Given the description of an element on the screen output the (x, y) to click on. 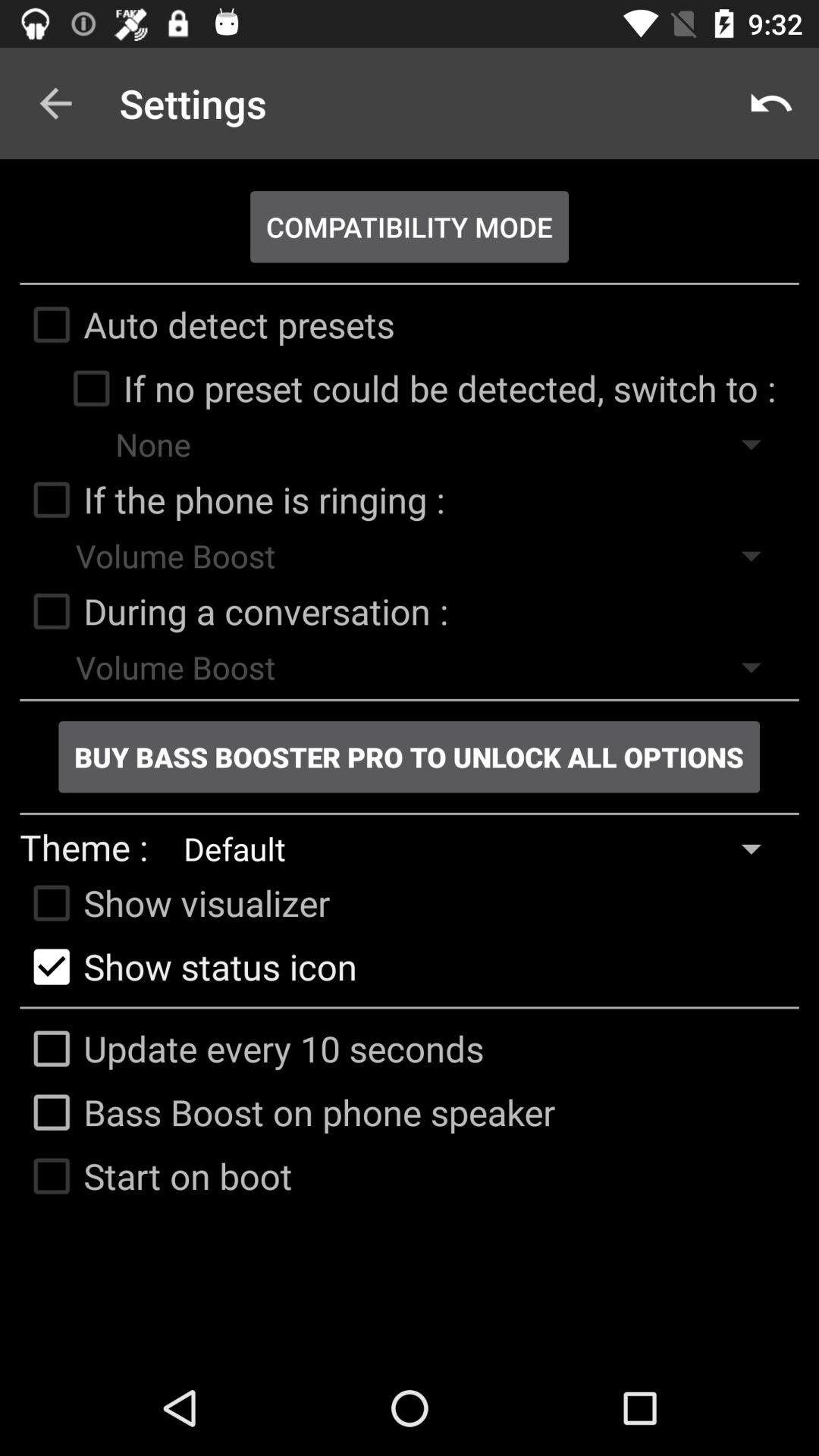
tap the item below auto detect presets (417, 388)
